Given the description of an element on the screen output the (x, y) to click on. 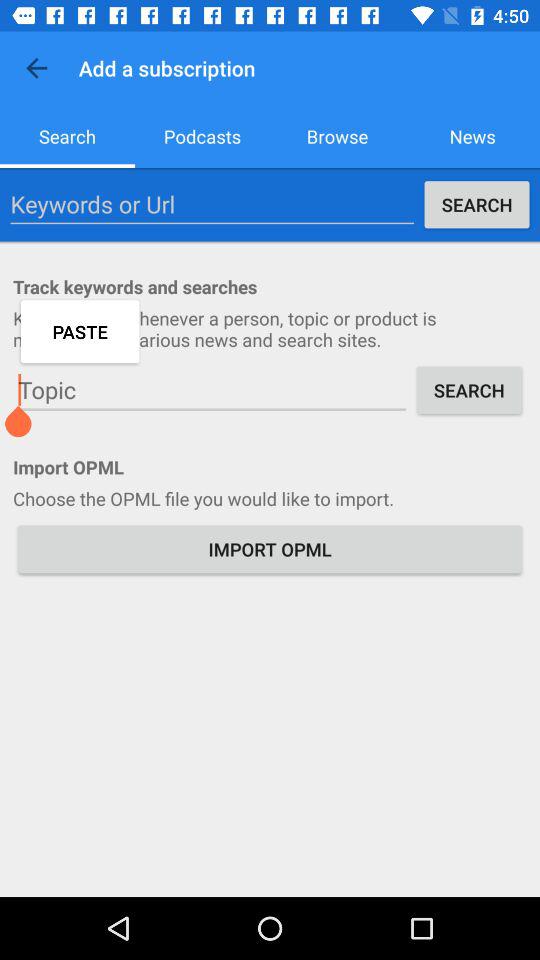
launch the icon to the right of the search icon (202, 136)
